Given the description of an element on the screen output the (x, y) to click on. 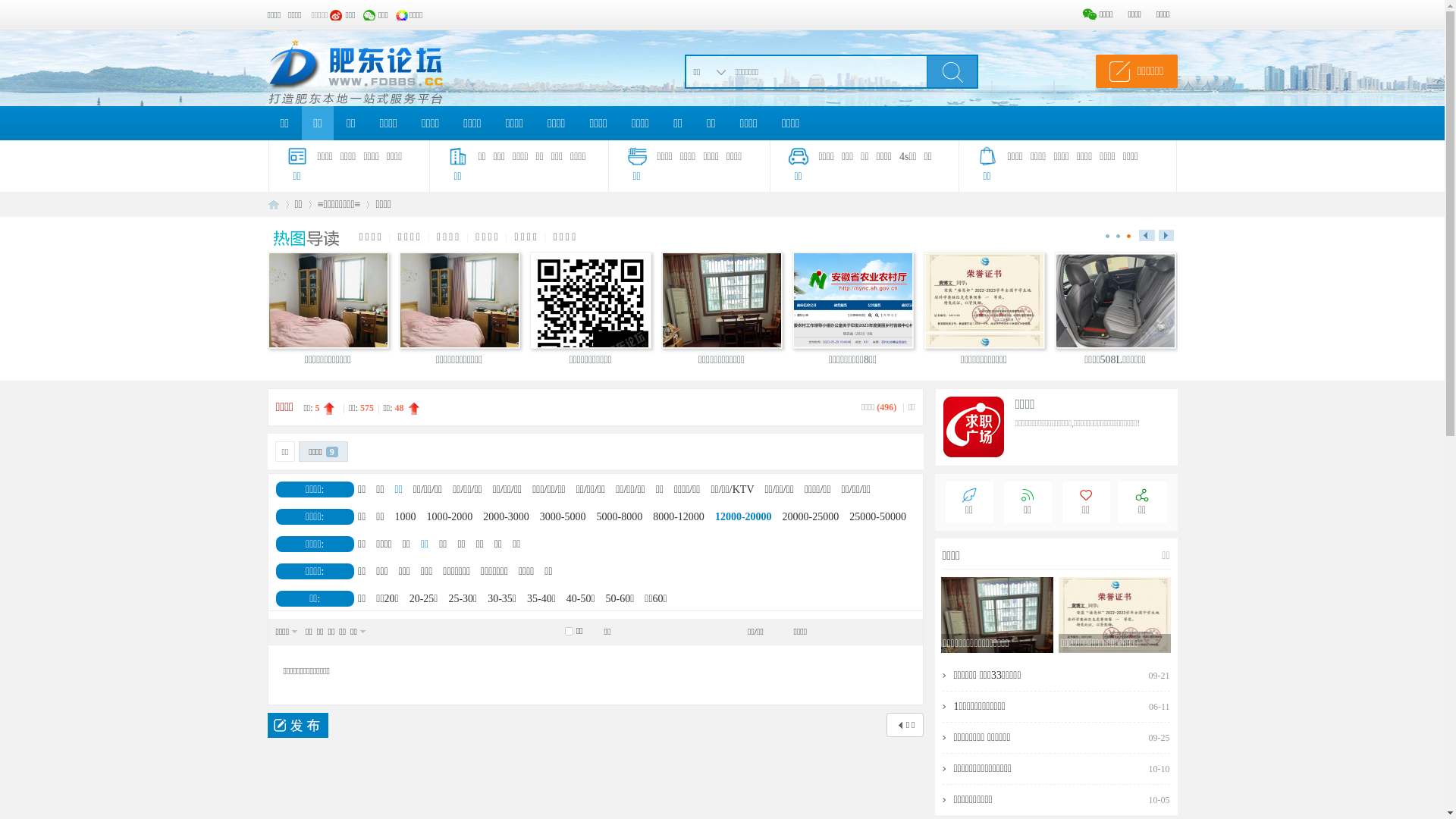
1000 Element type: text (405, 516)
3000-5000 Element type: text (562, 516)
1000-2000 Element type: text (449, 516)
true Element type: text (951, 71)
25000-50000 Element type: text (877, 516)
5000-8000 Element type: text (619, 516)
2000-3000 Element type: text (506, 516)
20000-25000 Element type: text (810, 516)
12000-20000 Element type: text (743, 516)
8000-12000 Element type: text (678, 516)
